Given the description of an element on the screen output the (x, y) to click on. 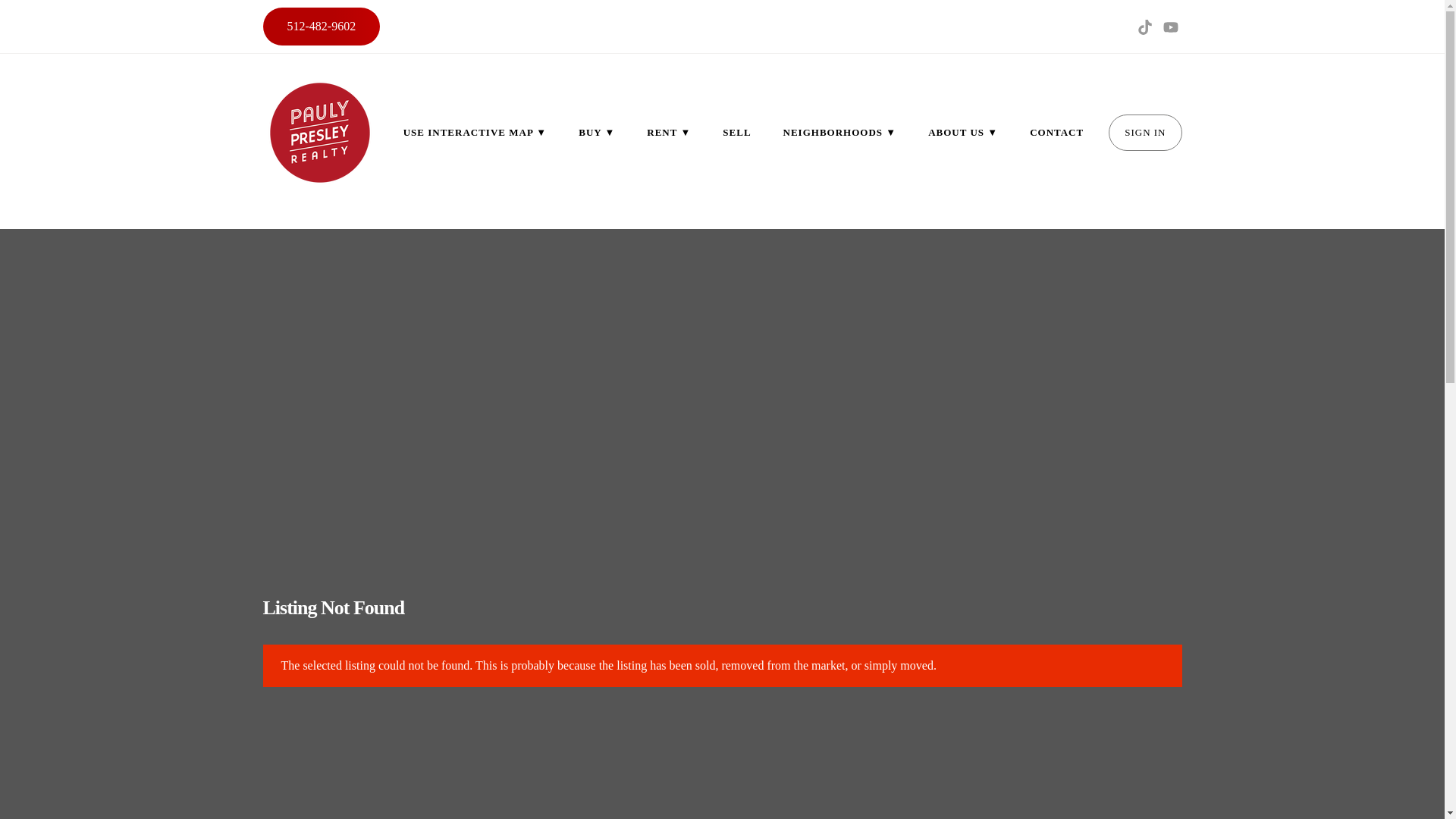
512-482-9602 (321, 26)
Site Logo (318, 132)
SELL (736, 132)
